Given the description of an element on the screen output the (x, y) to click on. 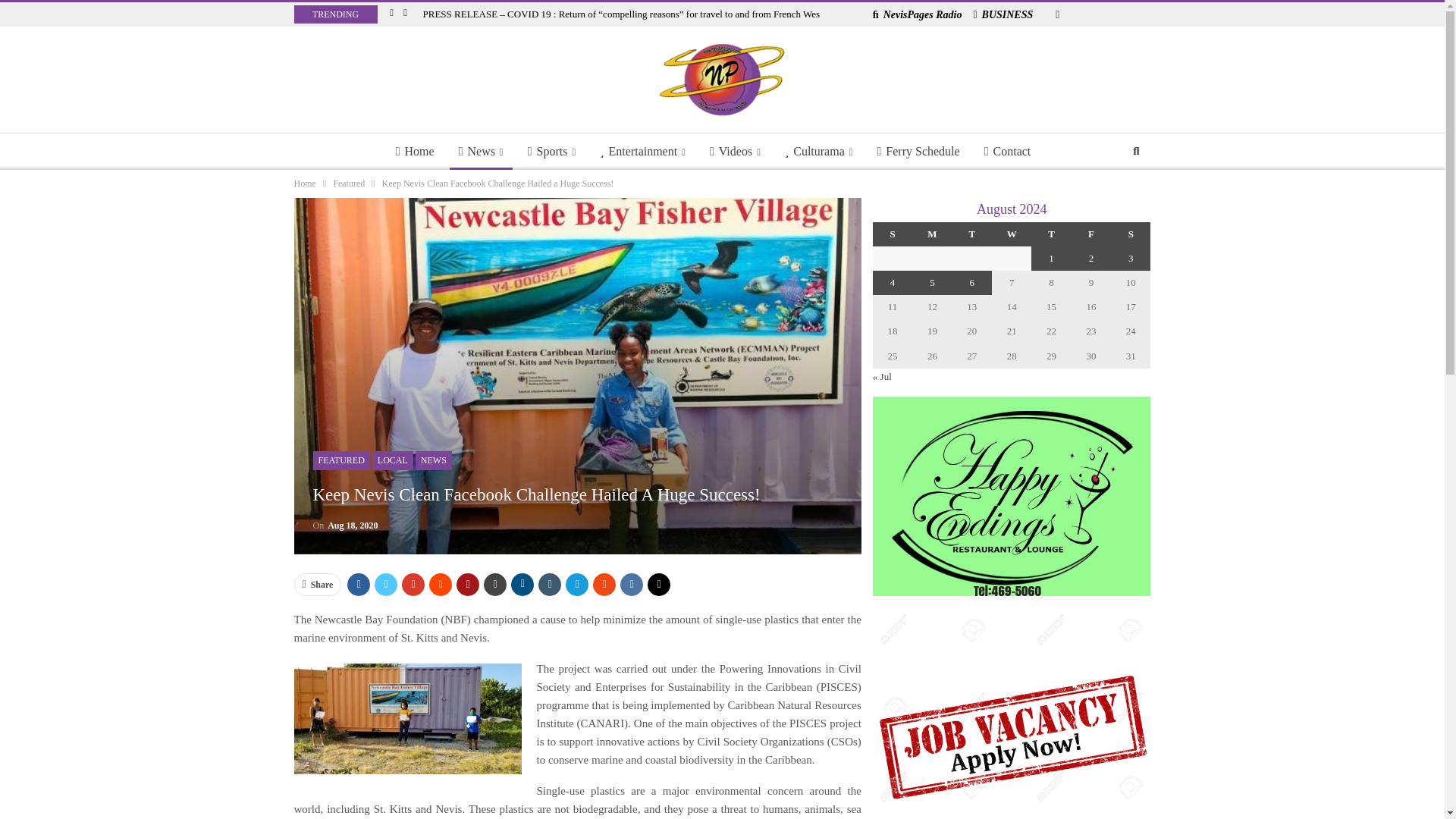
Home (415, 151)
BUSINESS (1002, 14)
NevisPages Radio (917, 14)
News (480, 151)
